Given the description of an element on the screen output the (x, y) to click on. 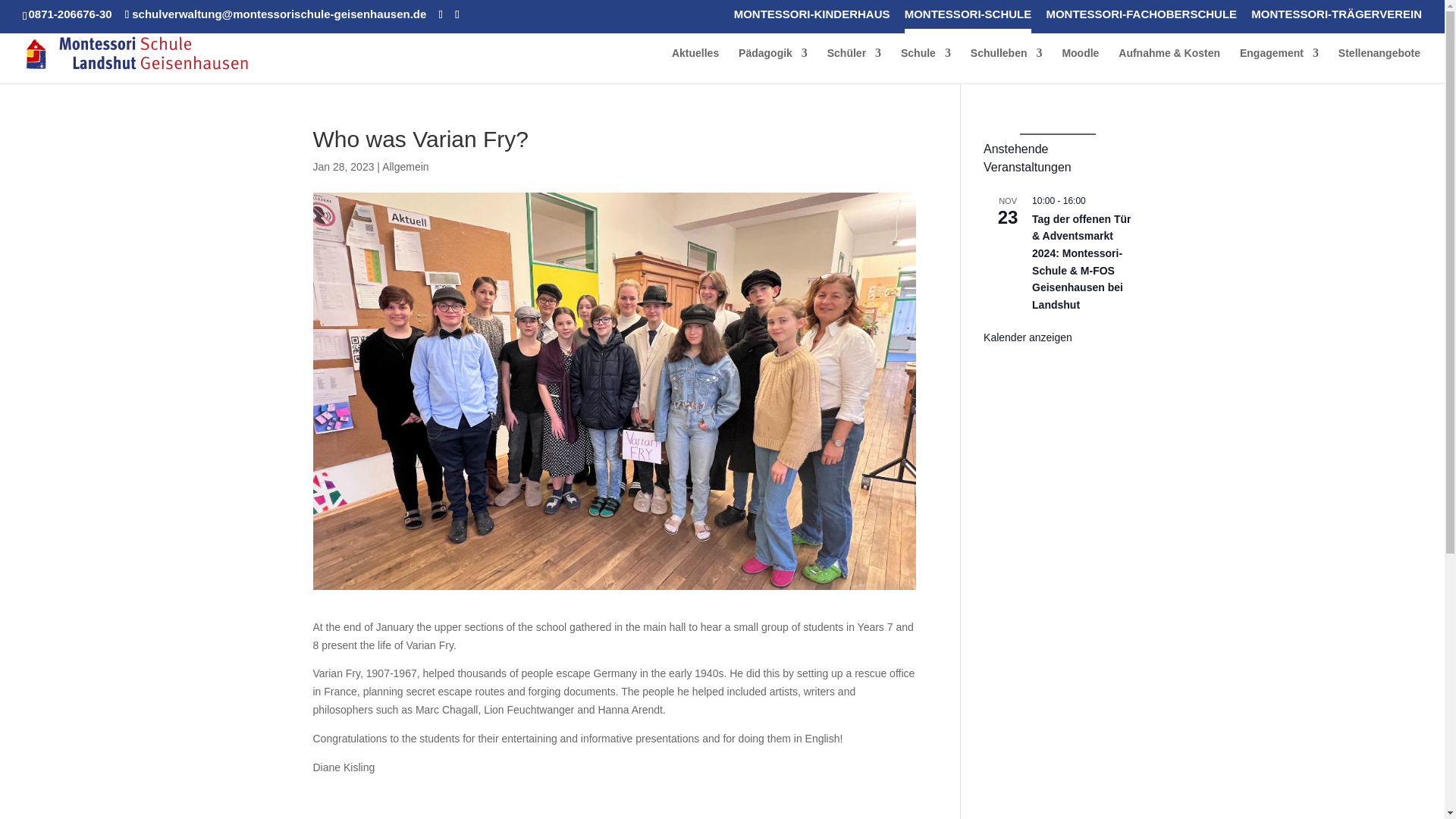
Kalender anzeigen (1027, 337)
Aktuelles (695, 65)
Weitere Veranstaltungen anzeigen. (1027, 337)
MONTESSORI-SCHULE (968, 17)
Moodle (1080, 65)
Schule (925, 65)
Stellenangebote (1379, 65)
Schulleben (1006, 65)
MONTESSORI-FACHOBERSCHULE (1140, 17)
Allgemein (404, 166)
